Given the description of an element on the screen output the (x, y) to click on. 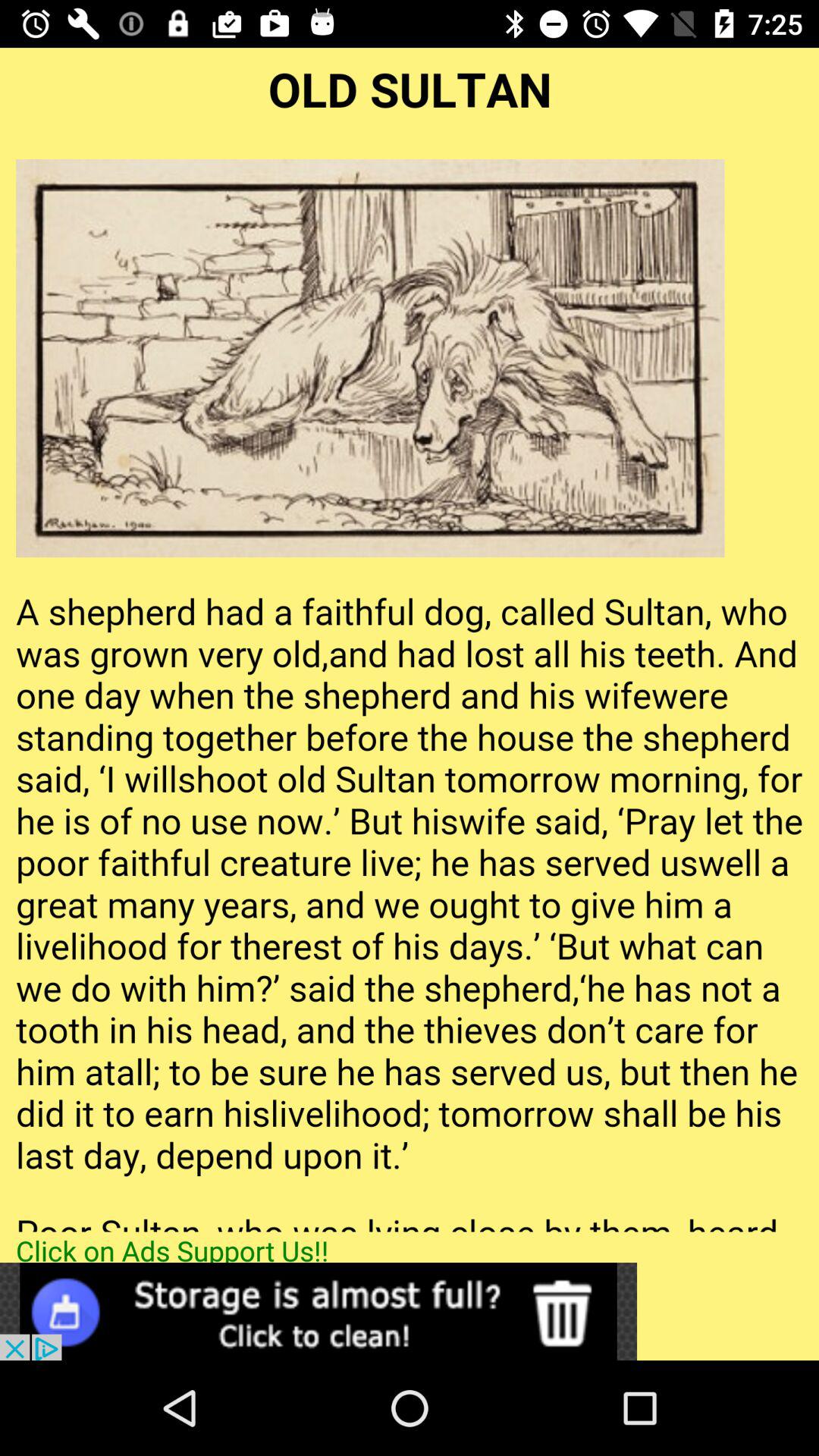
select all (409, 639)
